Given the description of an element on the screen output the (x, y) to click on. 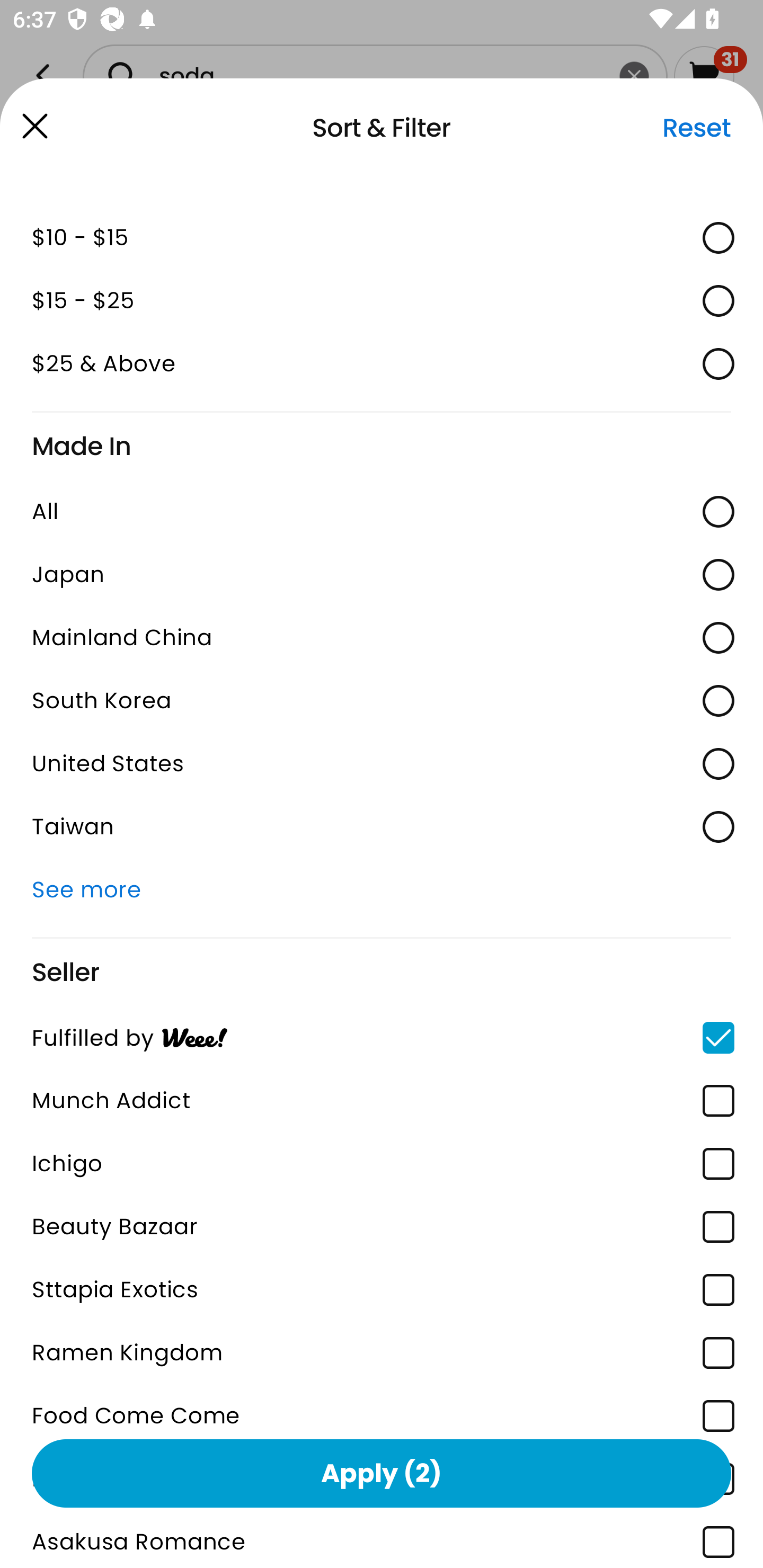
Reset (696, 127)
See more (381, 889)
Apply (2) (381, 1472)
